Given the description of an element on the screen output the (x, y) to click on. 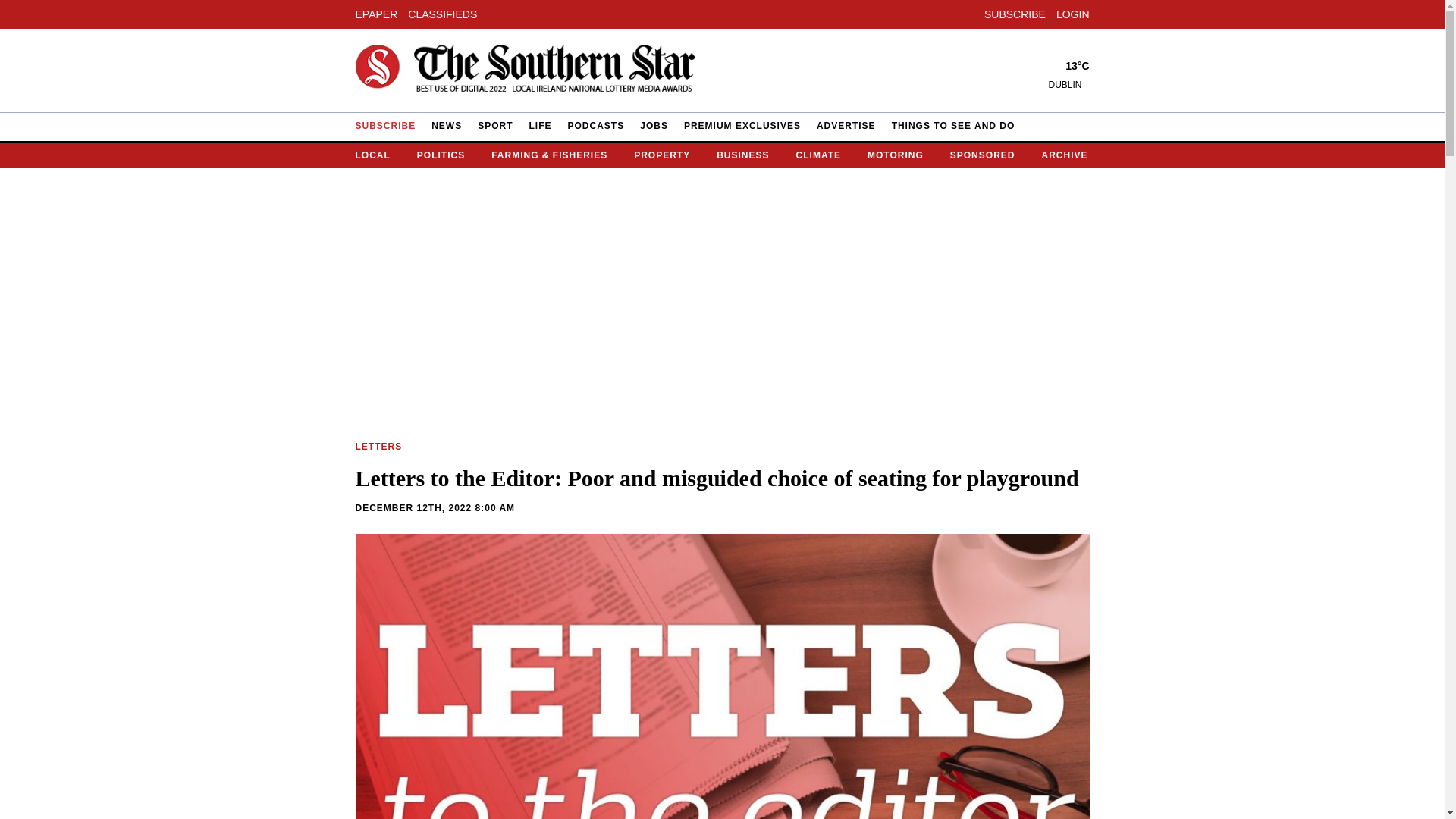
DUBLIN (1068, 84)
Southern Star Ltd. logo (524, 70)
SUBSCRIBE (1014, 13)
CLASSIFIEDS (442, 13)
EPAPER (376, 13)
LOGIN (1073, 13)
